Given the description of an element on the screen output the (x, y) to click on. 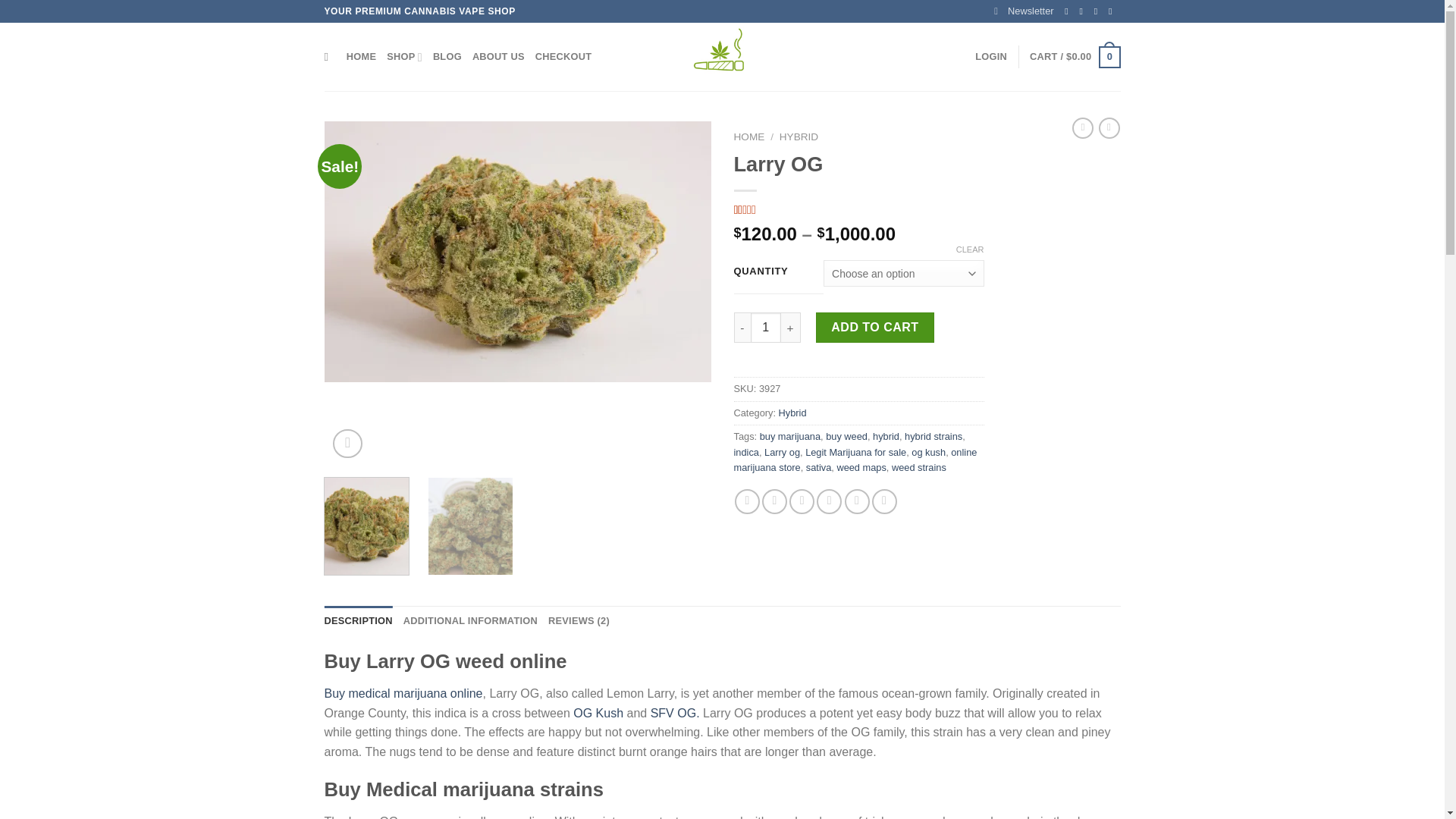
Newsletter (1023, 11)
larry-og-600x534-1.jpg (904, 293)
Sign up for Newsletter (1023, 11)
SHOP (404, 56)
CHECKOUT (563, 56)
LOGIN (991, 56)
1 (765, 327)
buy medical marijuana (517, 251)
HOME (360, 56)
Cart (1074, 57)
